Given the description of an element on the screen output the (x, y) to click on. 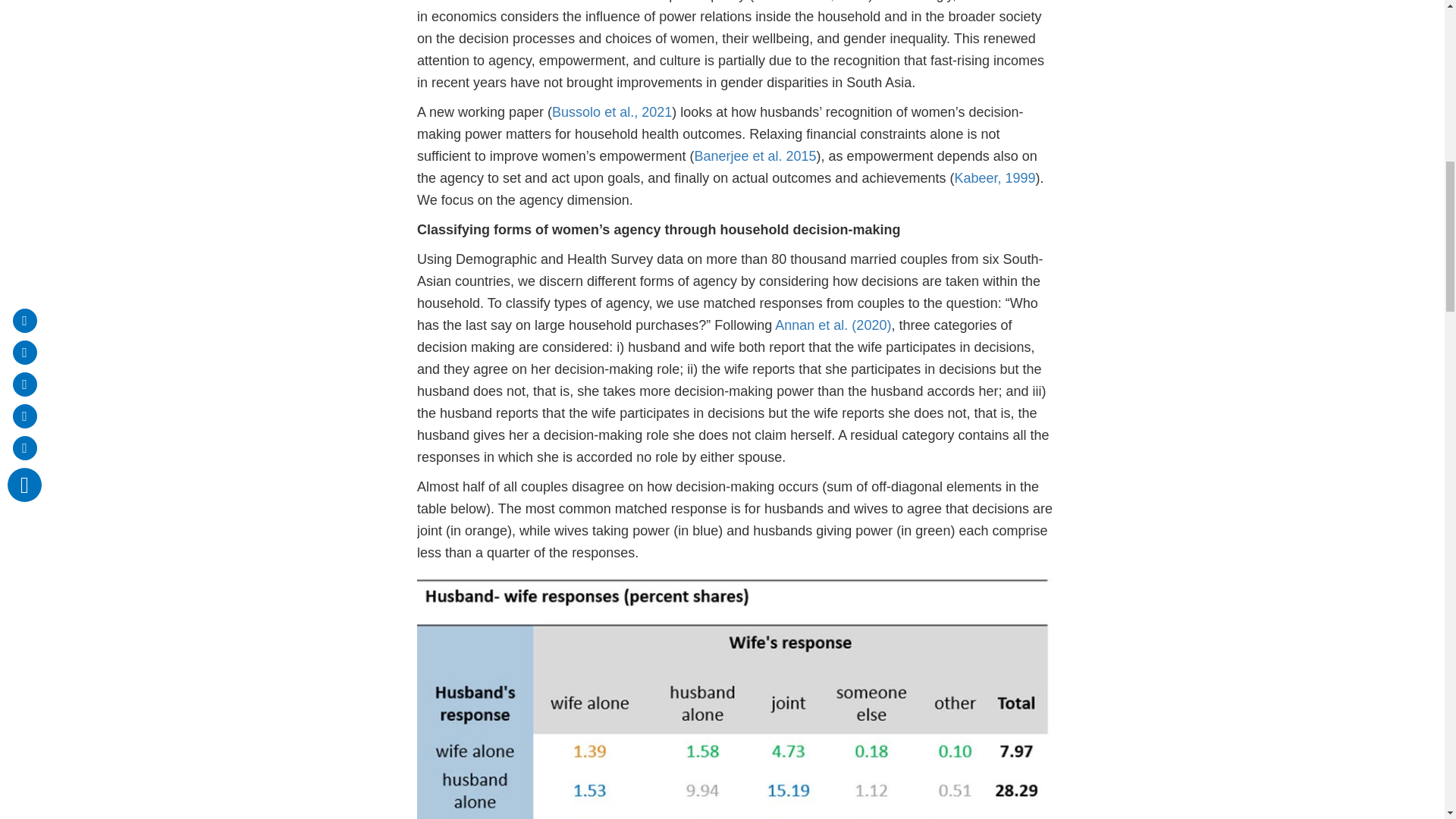
Banerjee et al. 2015 (754, 155)
Kabeer, 1999 (994, 177)
Donald et al., 2016 (810, 1)
Bussolo et al., 2021 (611, 111)
